Given the description of an element on the screen output the (x, y) to click on. 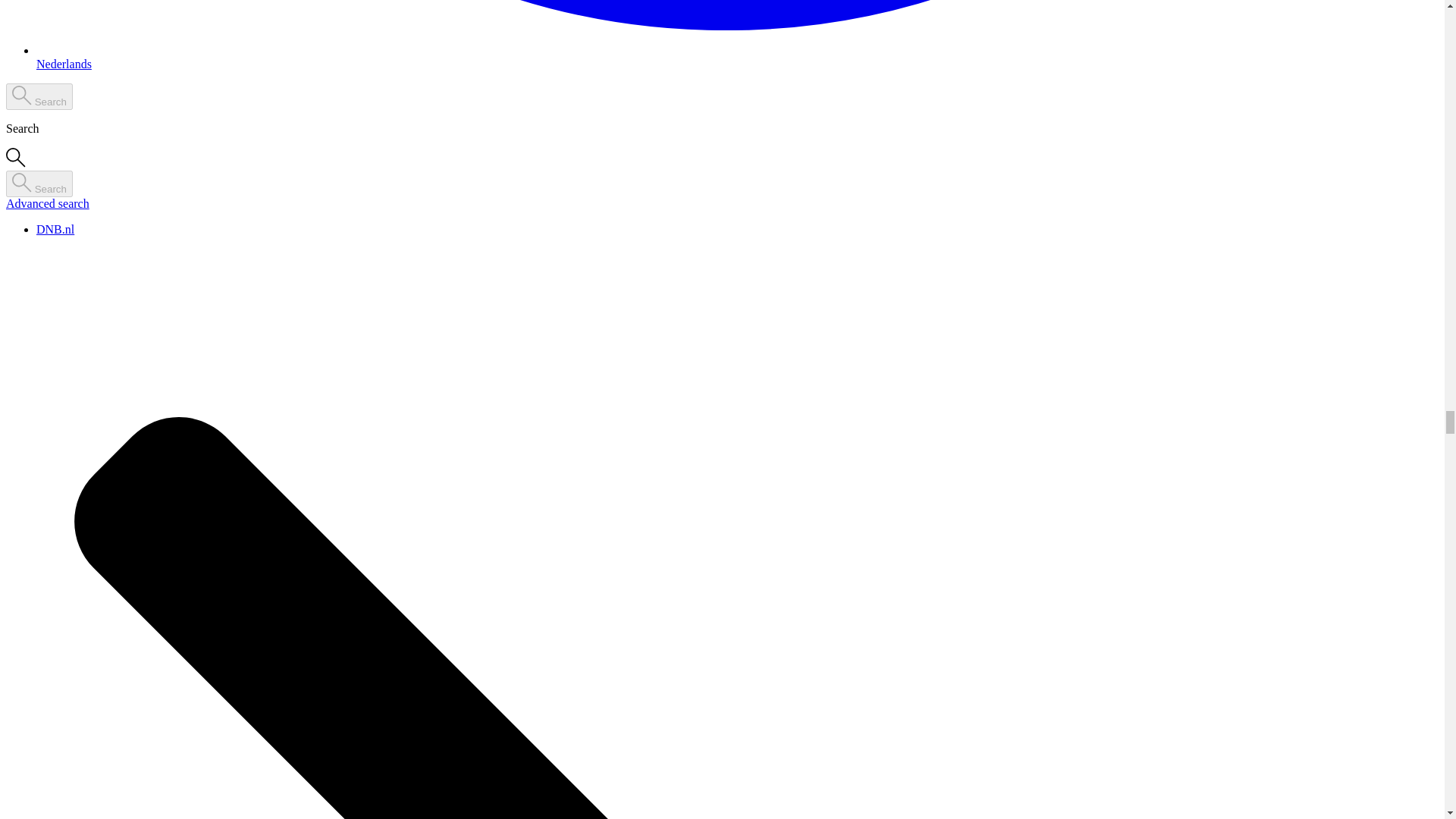
Search (38, 183)
